Given the description of an element on the screen output the (x, y) to click on. 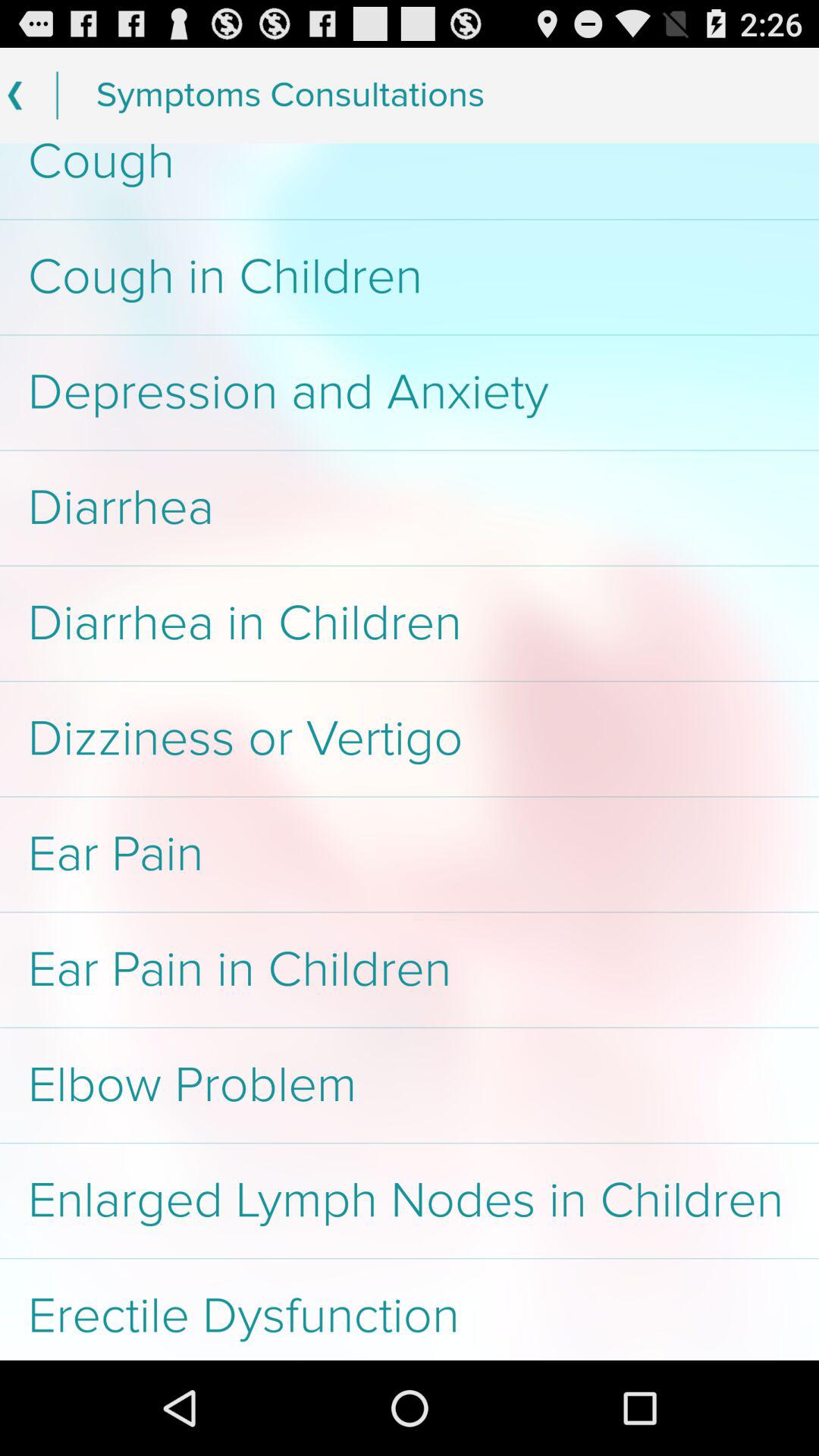
click dizziness or vertigo app (409, 738)
